Given the description of an element on the screen output the (x, y) to click on. 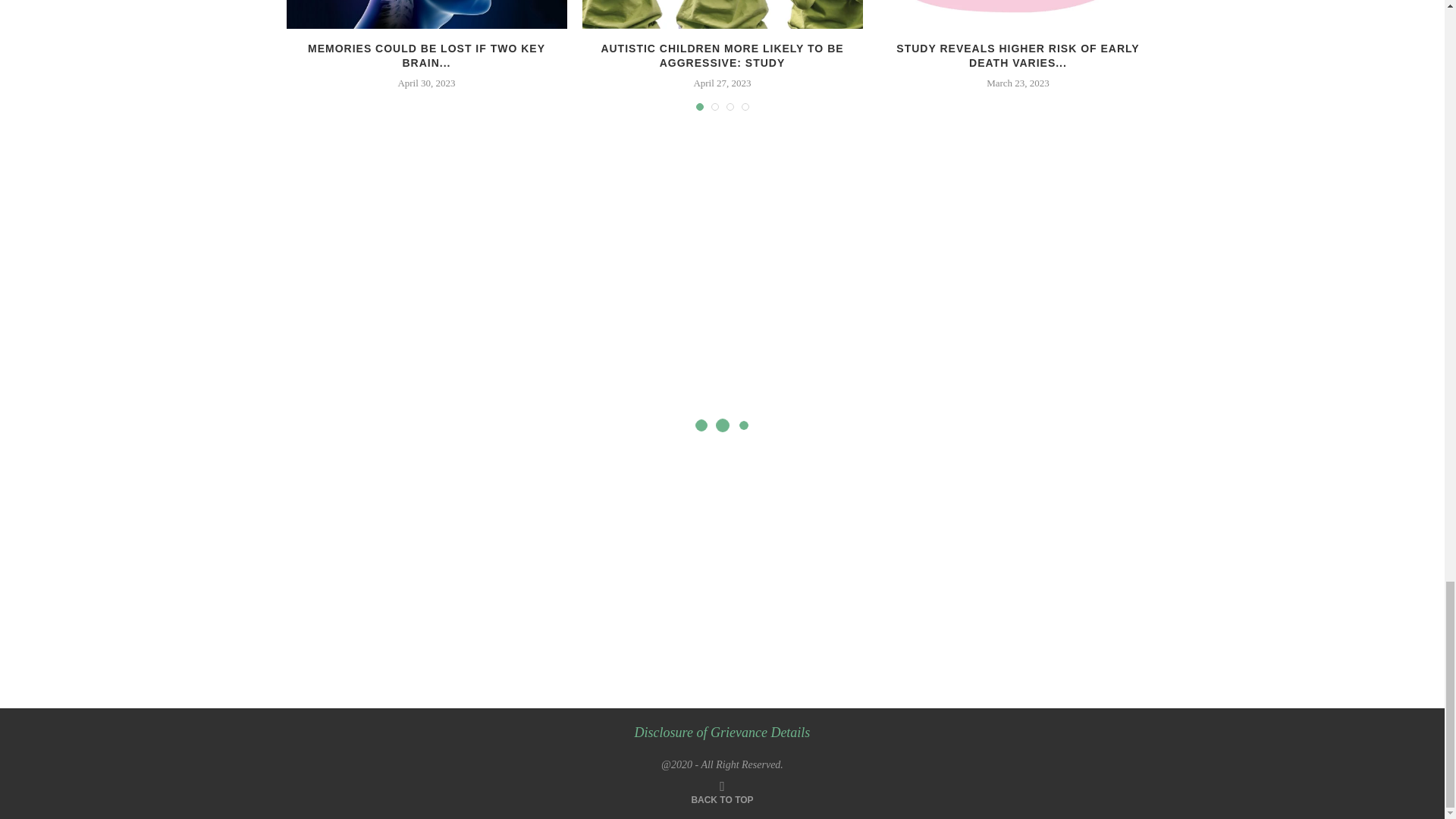
Autistic children more likely to be aggressive: Study (722, 14)
